Given the description of an element on the screen output the (x, y) to click on. 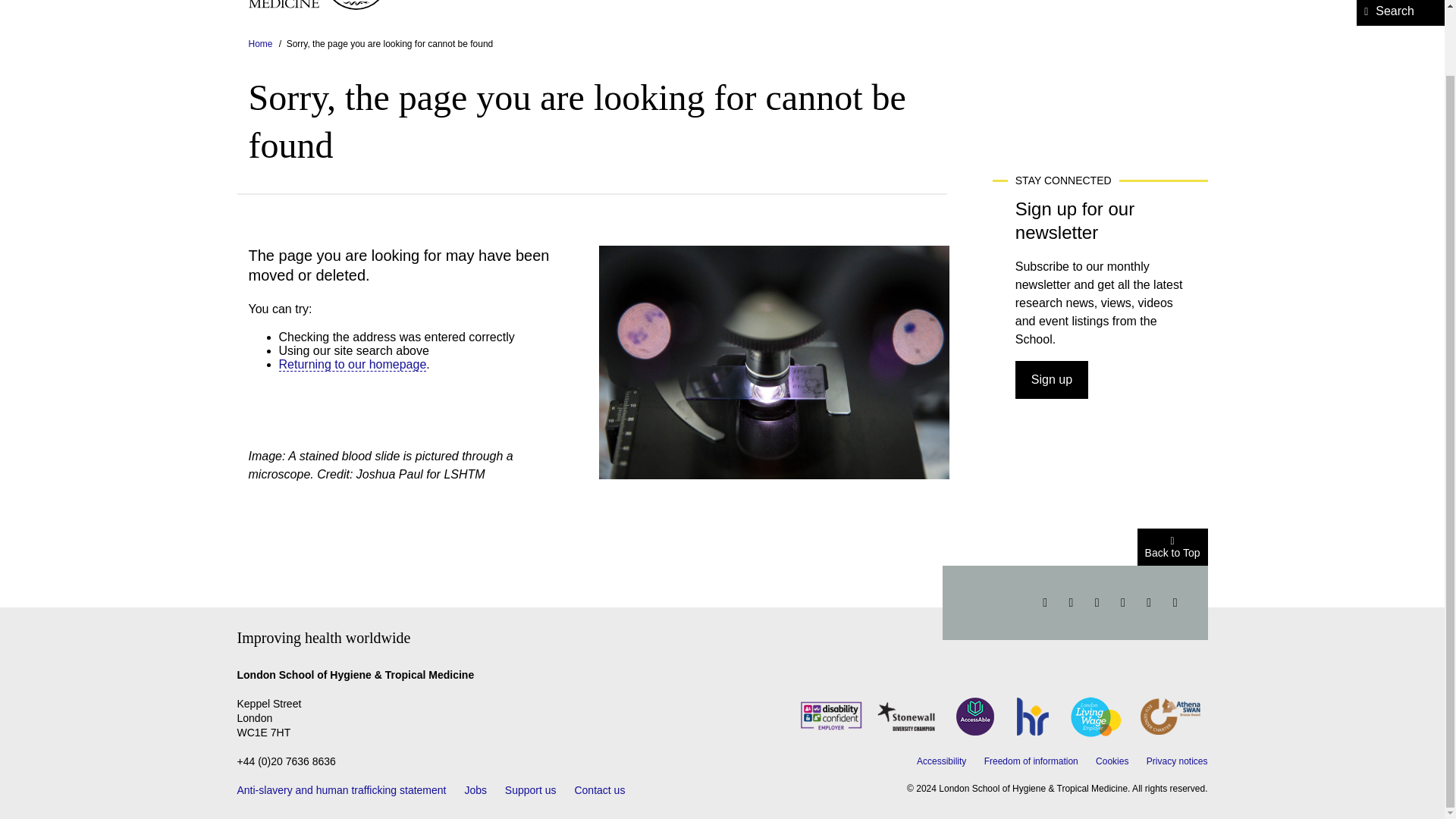
Back to Top (1172, 547)
Home (322, 4)
